Given the description of an element on the screen output the (x, y) to click on. 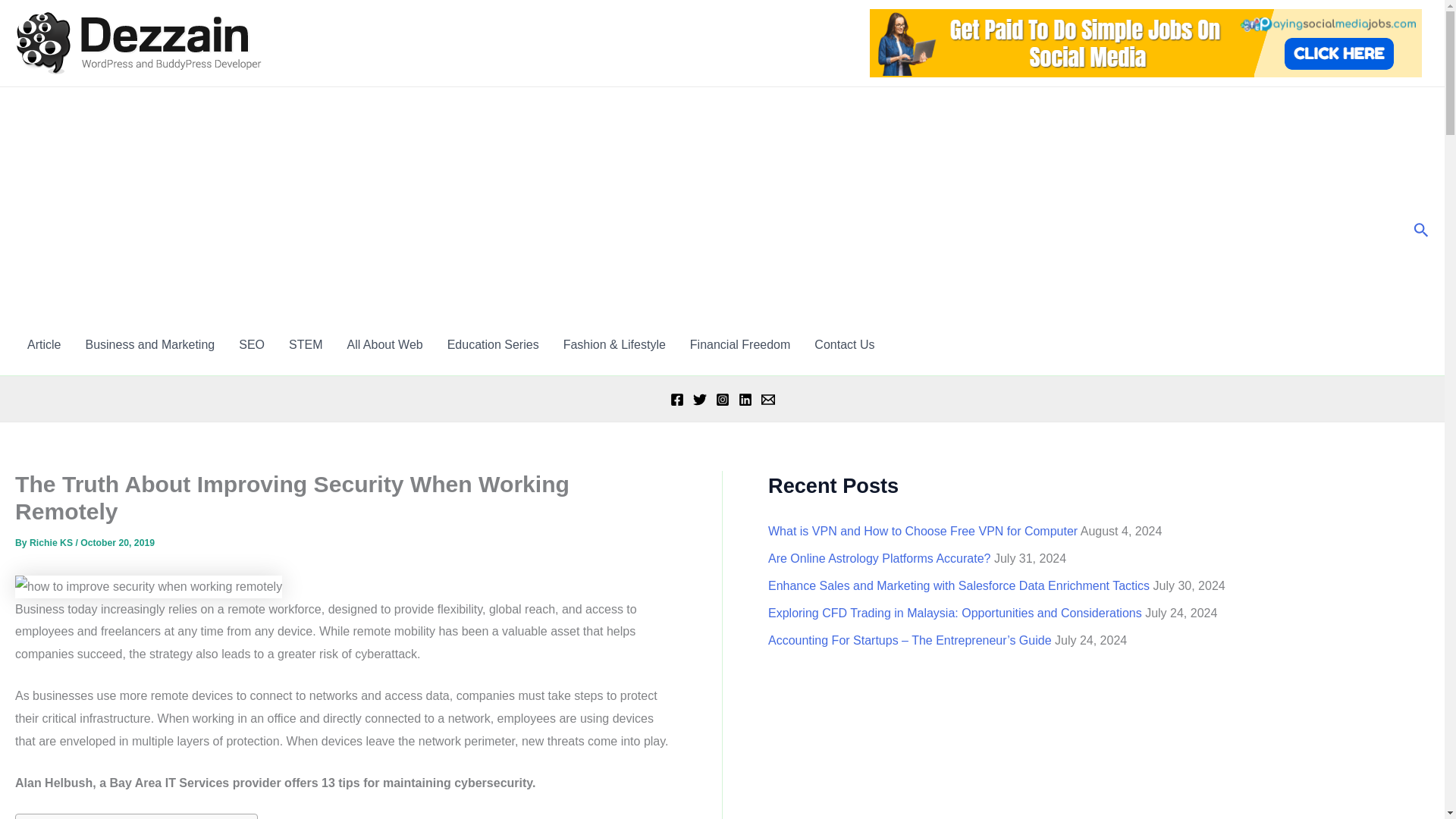
any inquiries? (844, 344)
Financial Freedom (740, 344)
Article (43, 344)
Business and Marketing (149, 344)
Contact Us (844, 344)
All About Web (383, 344)
Education Series (493, 344)
View all posts by Richie KS (52, 542)
STEM (305, 344)
Richie KS (52, 542)
